Given the description of an element on the screen output the (x, y) to click on. 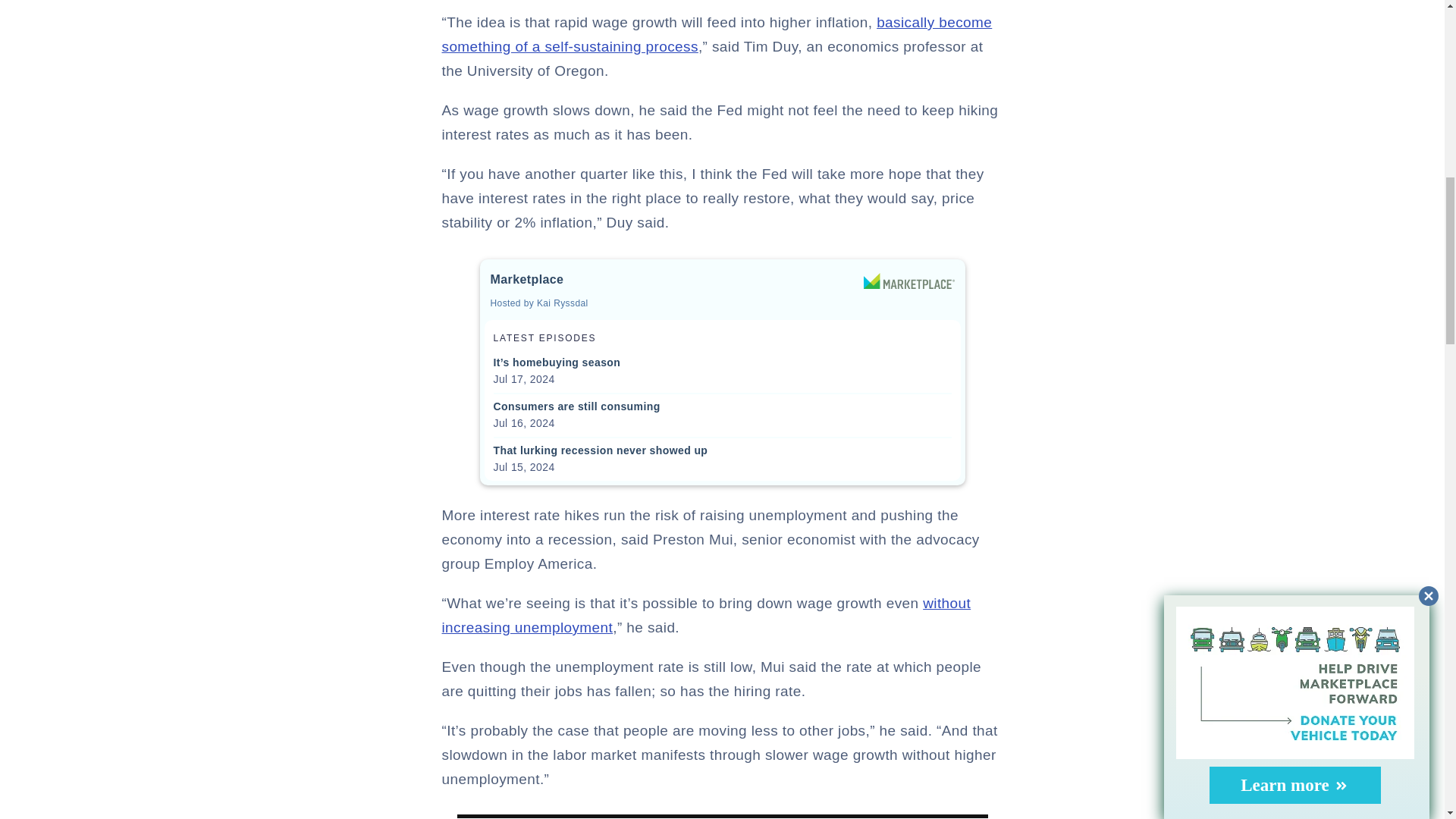
Marketplace (908, 280)
